Given the description of an element on the screen output the (x, y) to click on. 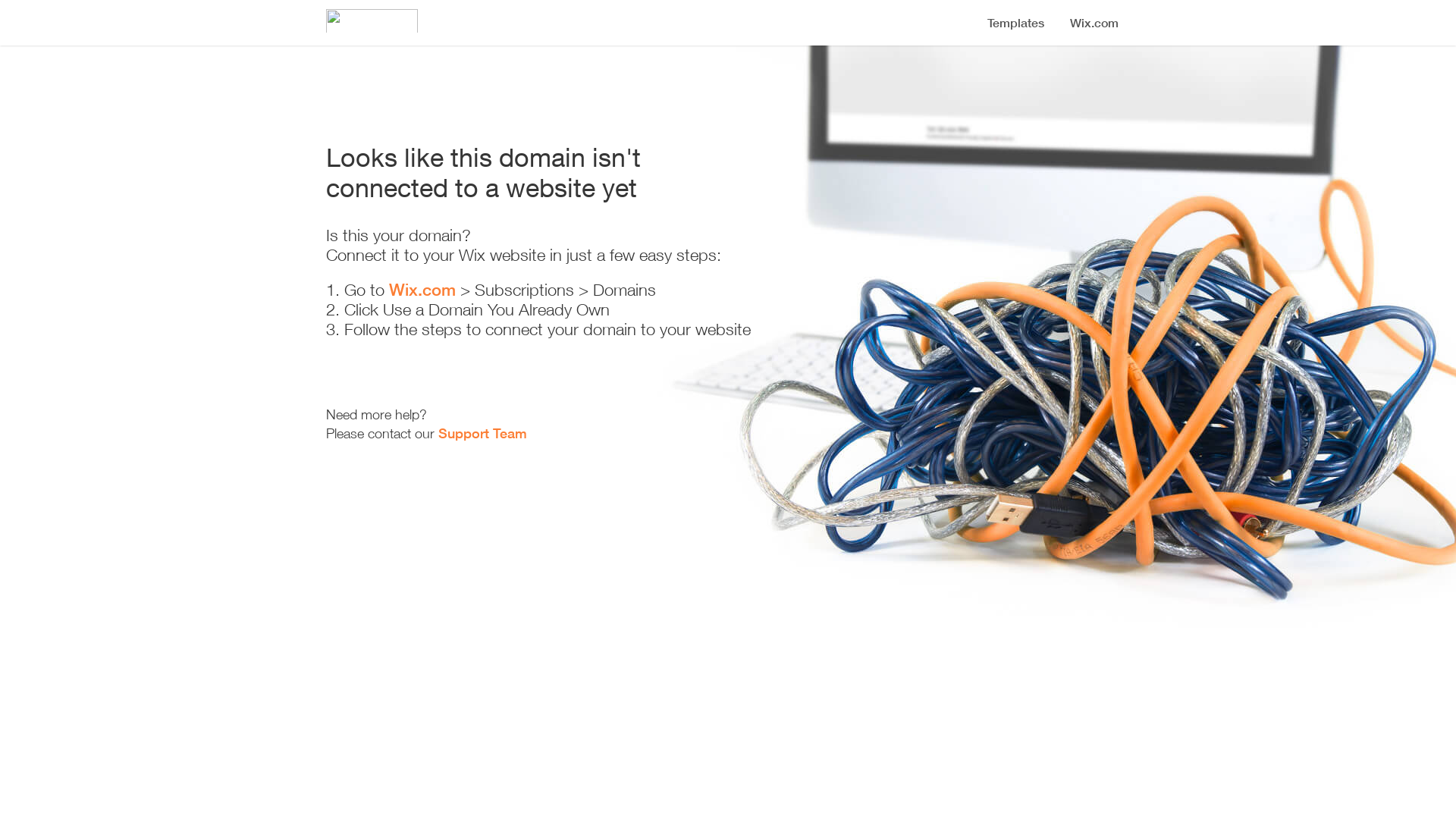
Support Team Element type: text (482, 432)
Wix.com Element type: text (422, 289)
